Given the description of an element on the screen output the (x, y) to click on. 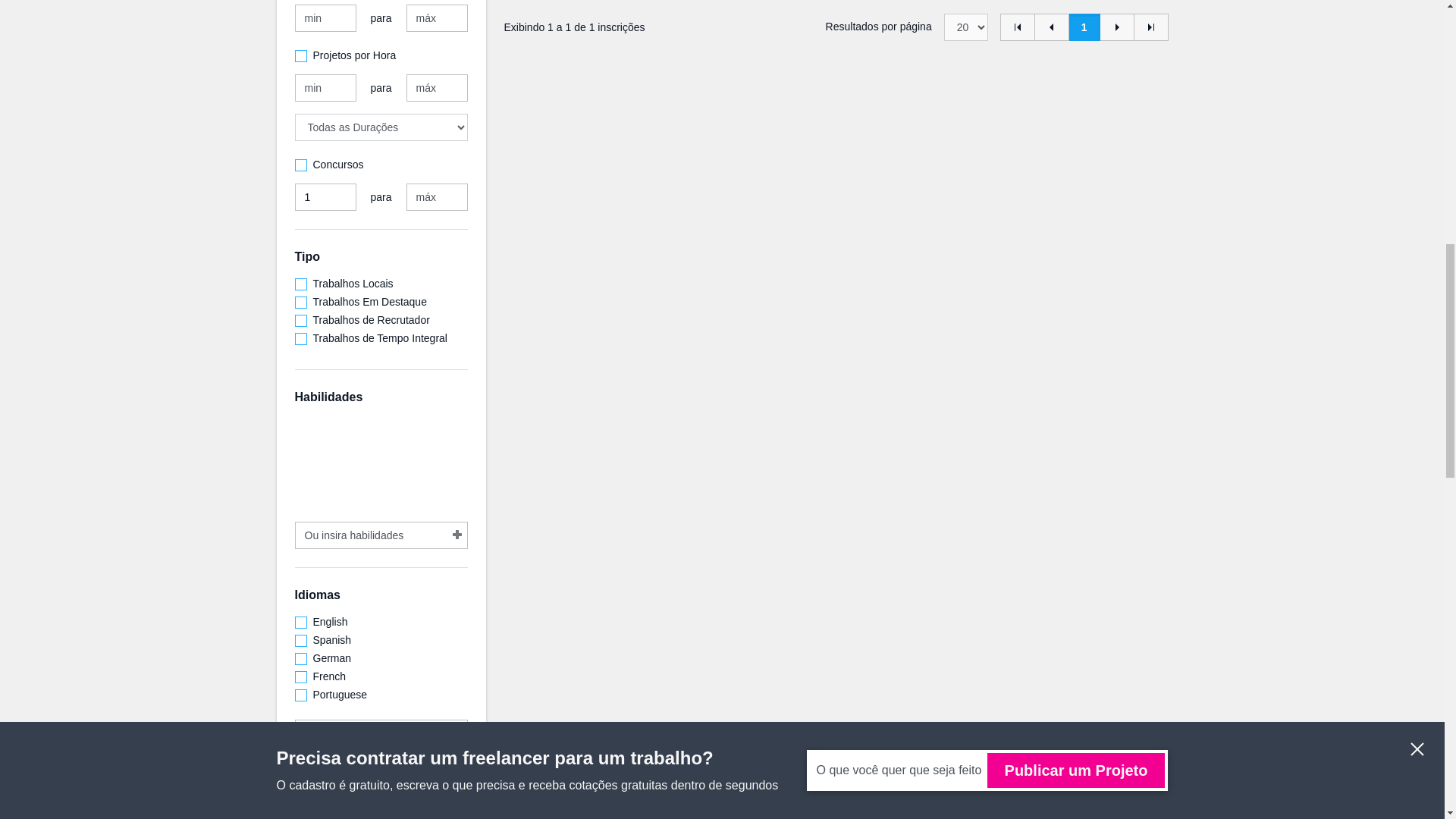
1 (324, 196)
1 (1084, 26)
